Given the description of an element on the screen output the (x, y) to click on. 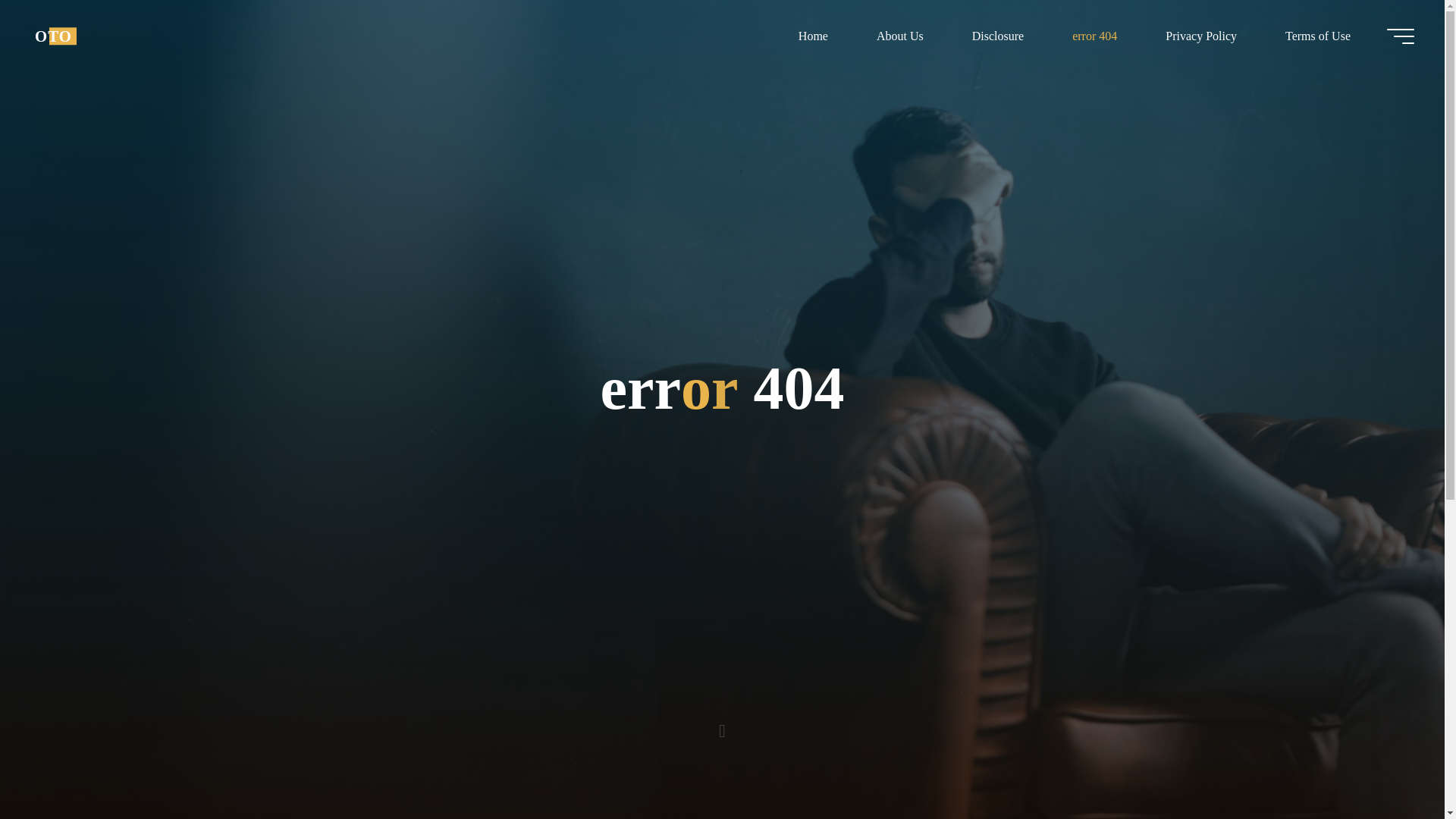
Disclosure (997, 35)
Home (812, 35)
Terms of Use (1317, 35)
About Us (899, 35)
Privacy Policy (1200, 35)
OTO (53, 36)
Read more (721, 724)
error 404 (1094, 35)
